Given the description of an element on the screen output the (x, y) to click on. 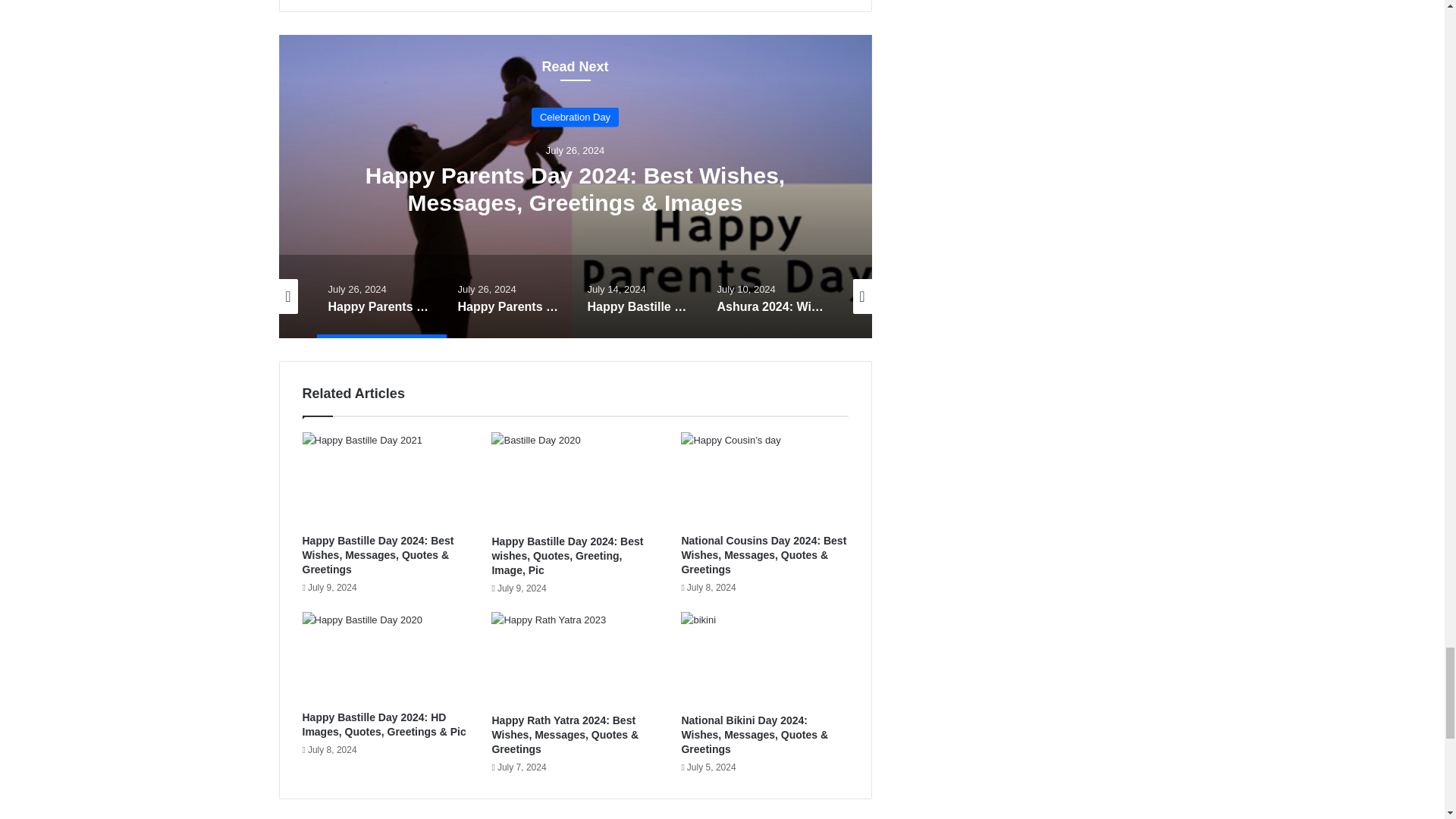
Celebration Day (574, 116)
